Given the description of an element on the screen output the (x, y) to click on. 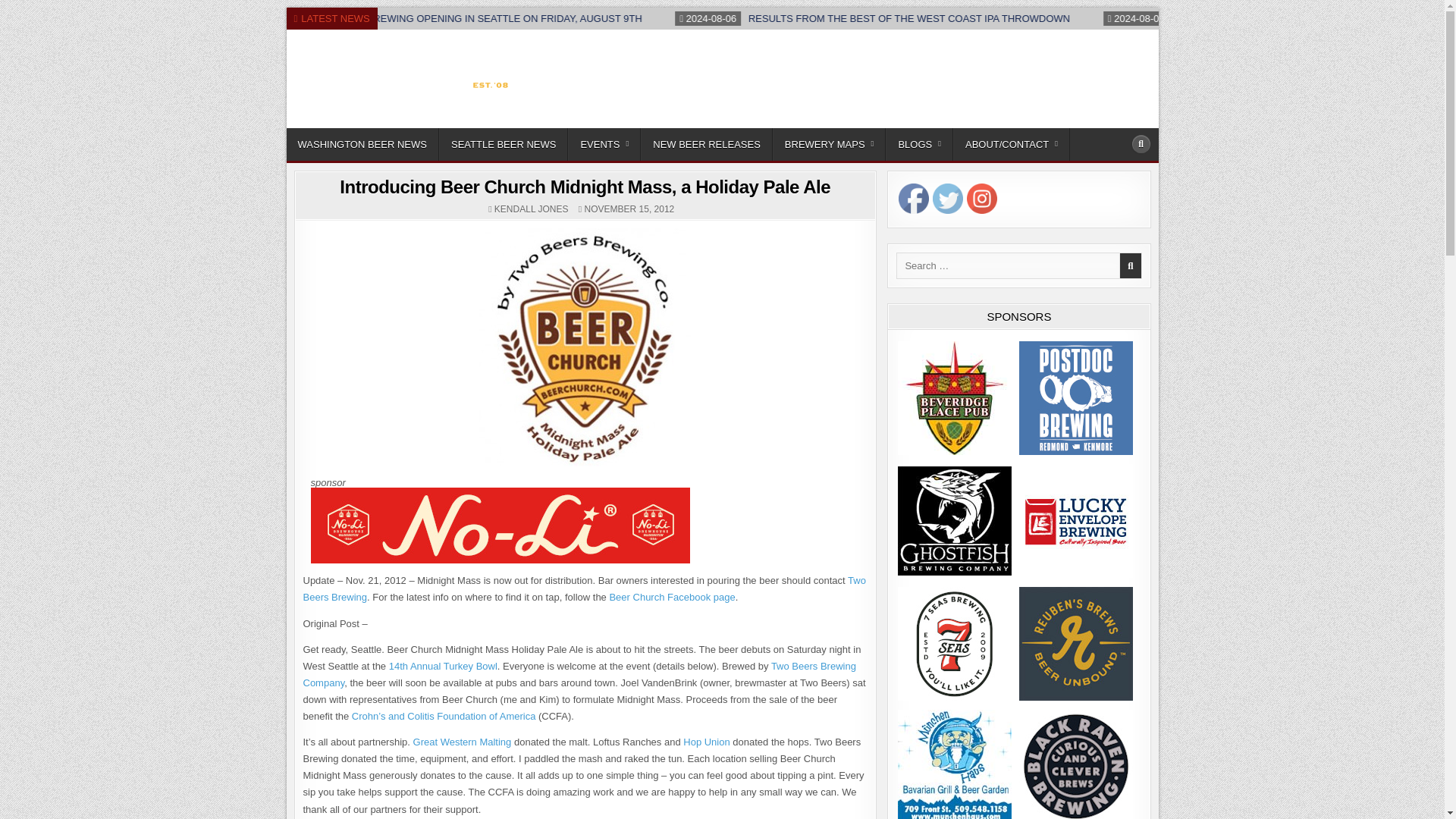
KENDALL JONES (532, 208)
BLOGS (919, 143)
Introducing Beer Church Midnight Mass, a Holiday Pale Ale (584, 186)
BREWERY MAPS (829, 143)
WASHINGTON BEER NEWS (362, 143)
The Washington Beer Blog (400, 124)
SEATTLE BEER NEWS (503, 143)
NEW BEER RELEASES (706, 143)
EVENTS (603, 143)
